Given the description of an element on the screen output the (x, y) to click on. 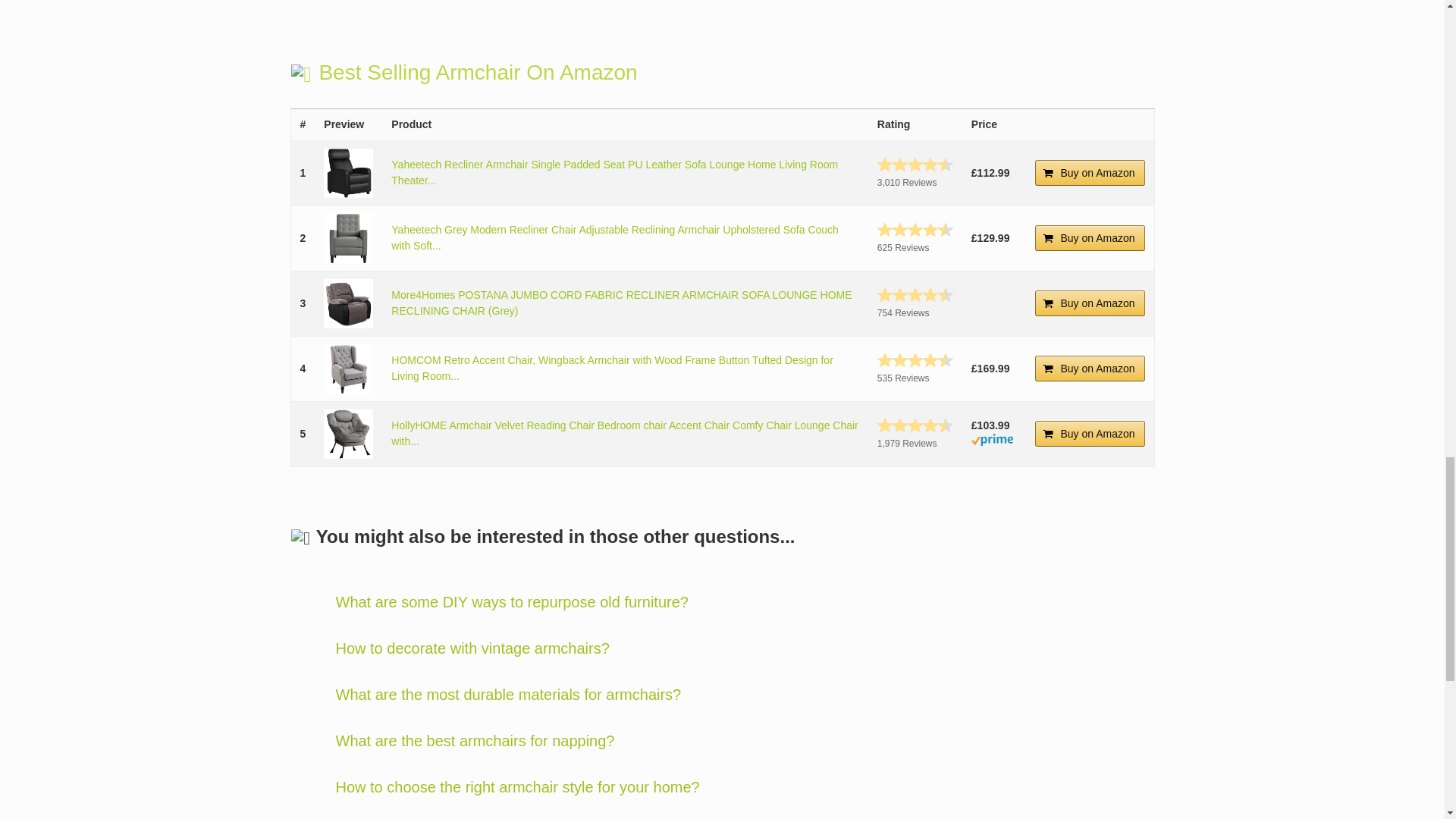
Buy on Amazon (1089, 303)
Buy on Amazon (1089, 172)
Reviews on Amazon (915, 294)
Reviews on Amazon (915, 164)
Buy on Amazon (1089, 237)
